Given the description of an element on the screen output the (x, y) to click on. 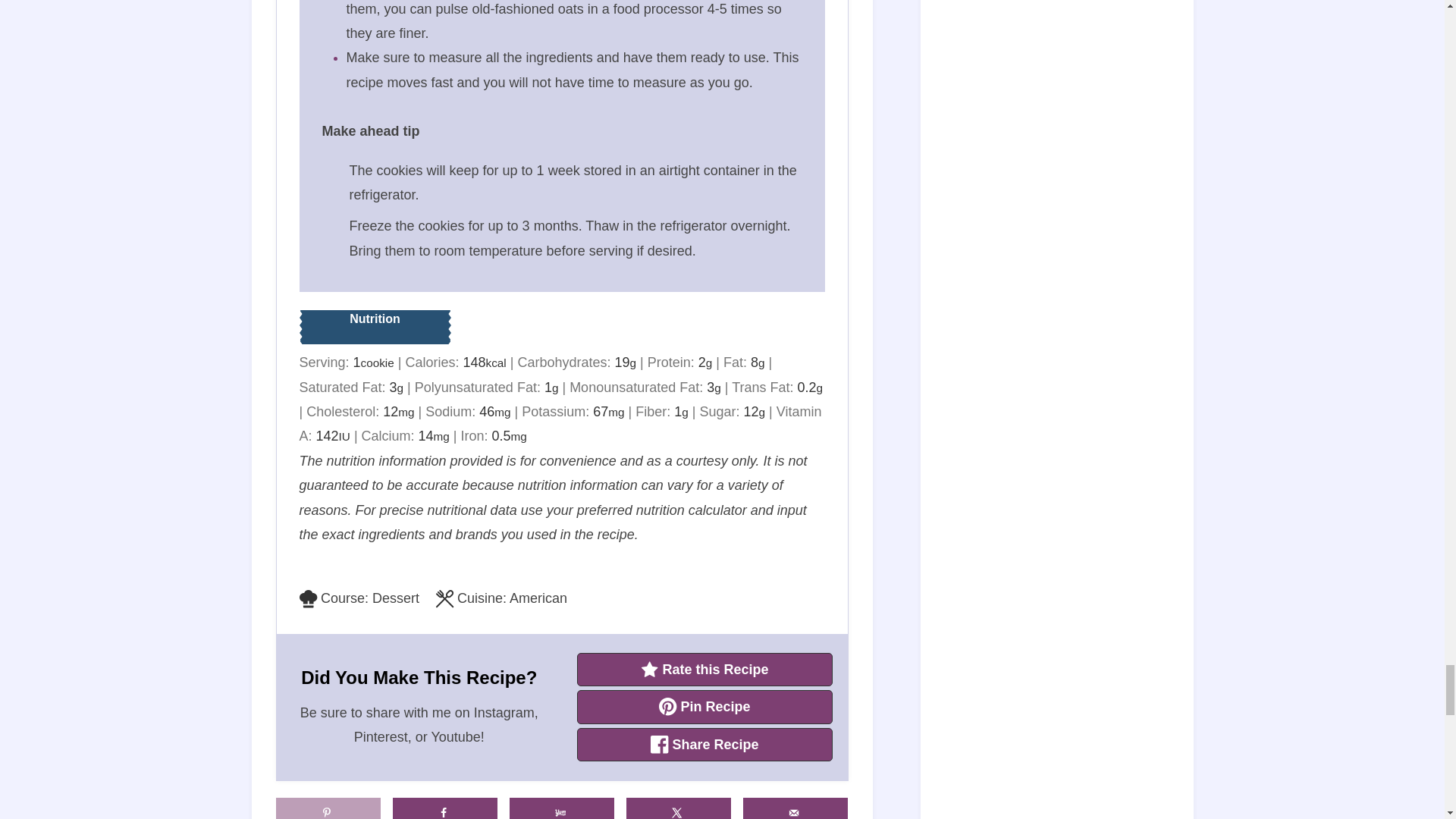
Share on Facebook (445, 808)
Send over email (795, 808)
Share on X (679, 808)
Save to Pinterest (328, 808)
Share on Yummly (561, 808)
